Given the description of an element on the screen output the (x, y) to click on. 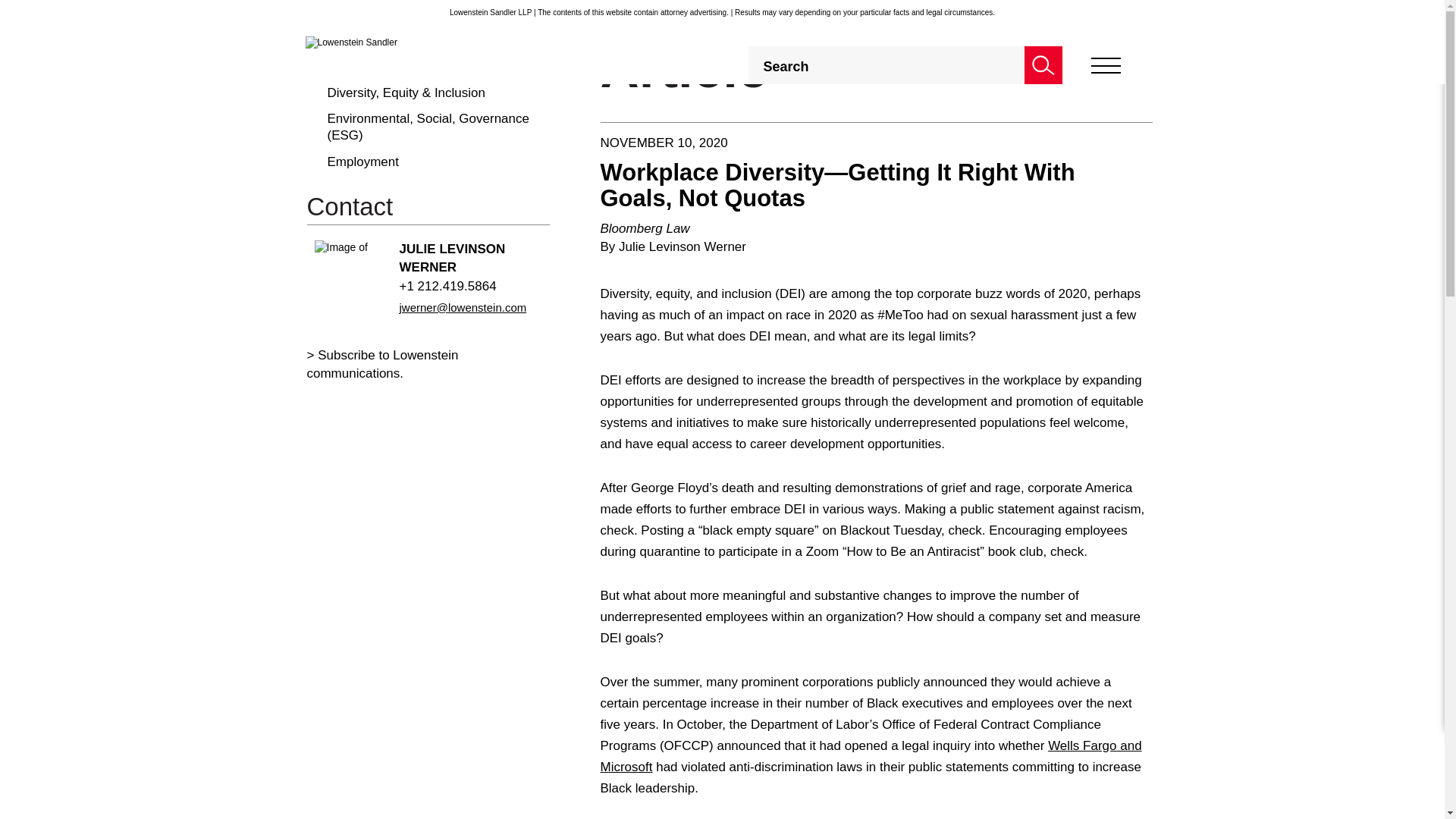
Hamburger (1104, 65)
Search (1042, 64)
logo-pre (350, 42)
Hamburger (1104, 65)
Search (1042, 64)
